Given the description of an element on the screen output the (x, y) to click on. 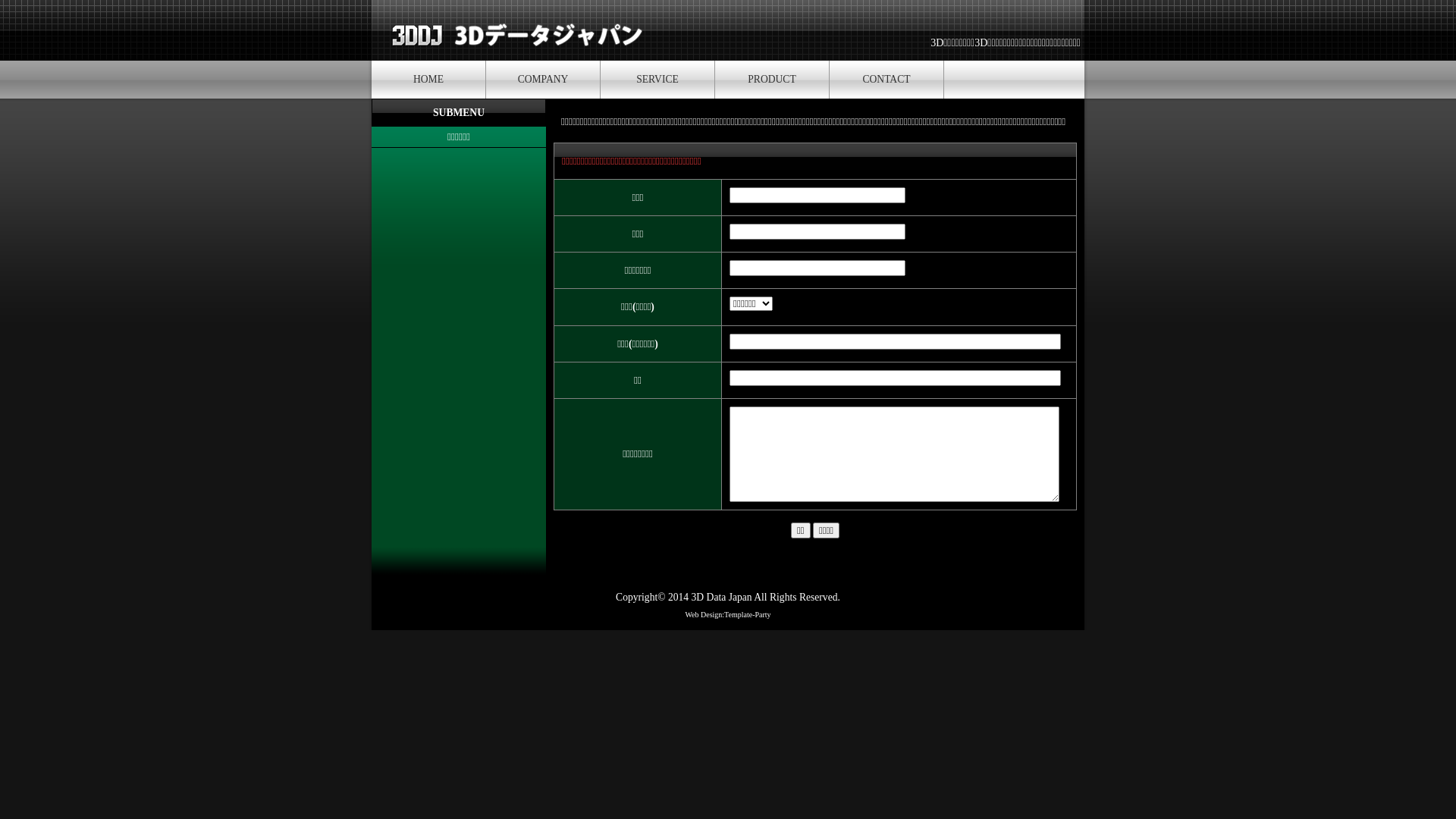
3D Data Japan Element type: text (721, 596)
CONTACT Element type: text (886, 79)
PRODUCT Element type: text (771, 79)
HOME Element type: text (428, 79)
SERVICE Element type: text (657, 79)
Web Design:Template-Party Element type: text (727, 614)
COMPANY Element type: text (542, 79)
